Given the description of an element on the screen output the (x, y) to click on. 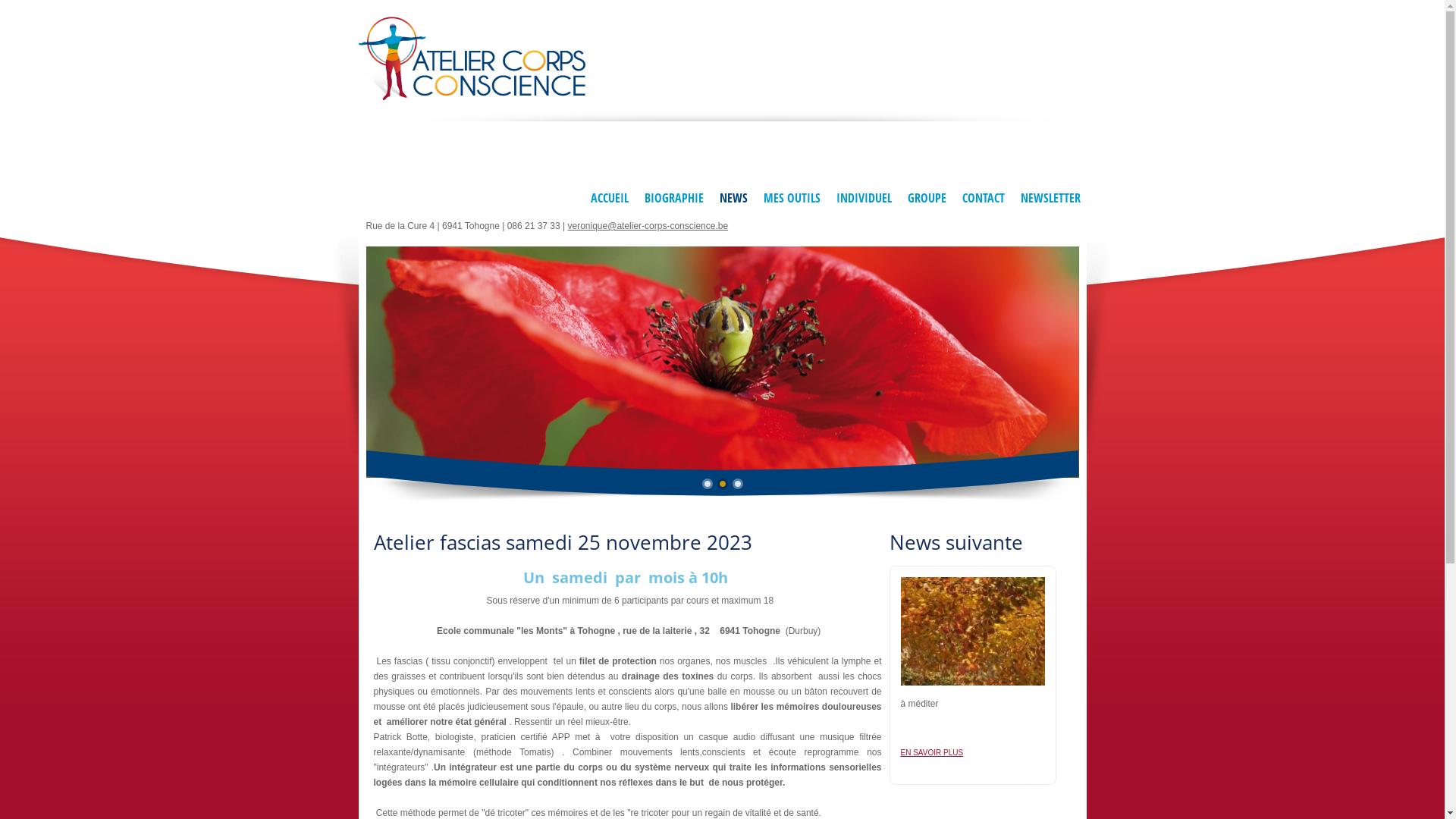
MES OUTILS Element type: text (789, 199)
ACCUEIL Element type: text (606, 199)
GROUPE Element type: text (924, 199)
INDIVIDUEL Element type: text (861, 199)
CONTACT Element type: text (981, 199)
BIOGRAPHIE Element type: text (672, 199)
veronique@atelier-corps-conscience.be Element type: text (647, 225)
NEWS Element type: text (731, 199)
EN SAVOIR PLUS Element type: text (931, 752)
NEWSLETTER Element type: text (1048, 199)
